Given the description of an element on the screen output the (x, y) to click on. 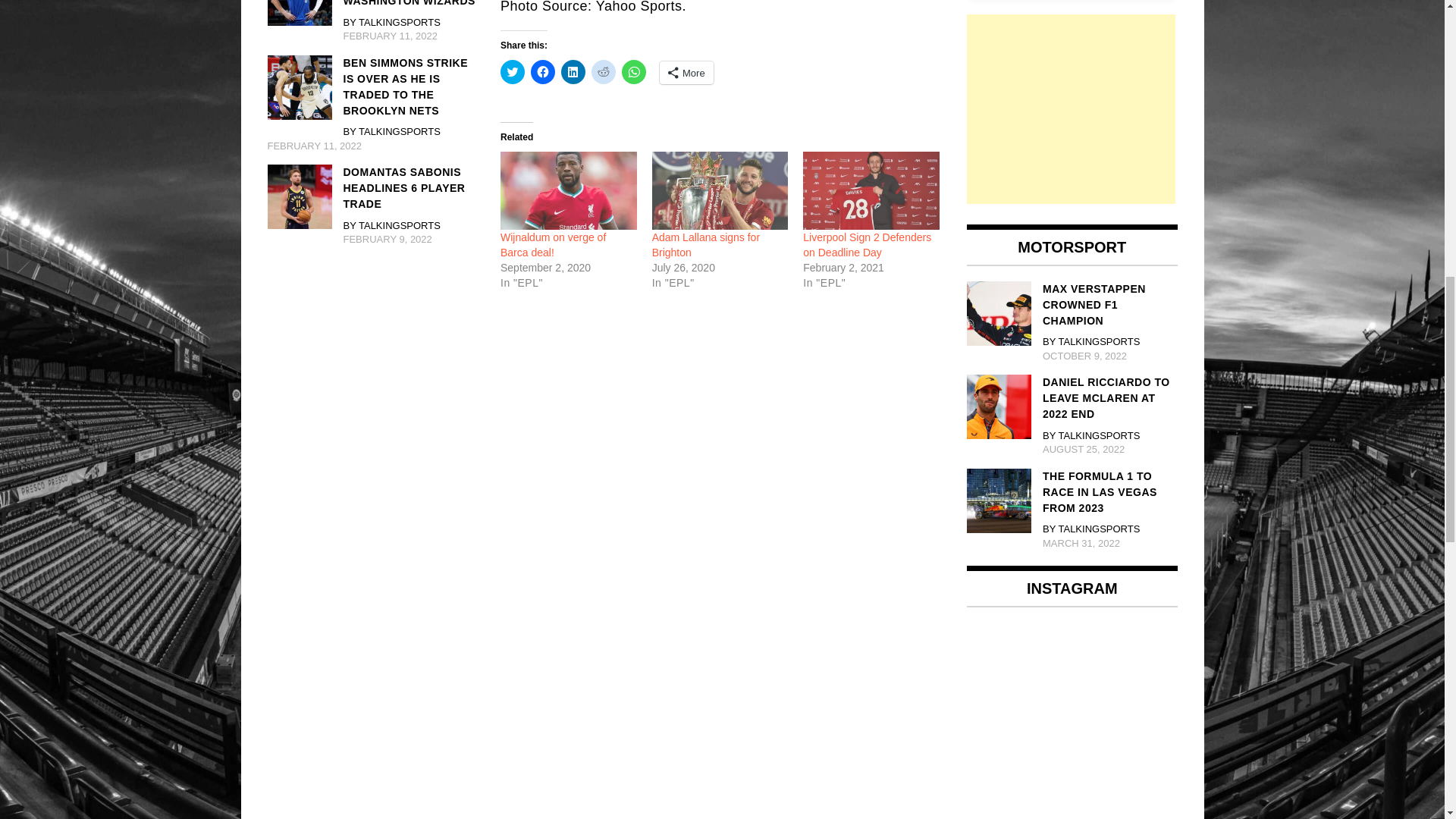
Click to share on WhatsApp (633, 71)
Click to share on Twitter (512, 71)
Click to share on LinkedIn (572, 71)
Click to share on Reddit (603, 71)
Click to share on Facebook (542, 71)
Wijnaldum on verge of Barca deal! (552, 244)
Wijnaldum on verge of Barca deal! (568, 190)
